Given the description of an element on the screen output the (x, y) to click on. 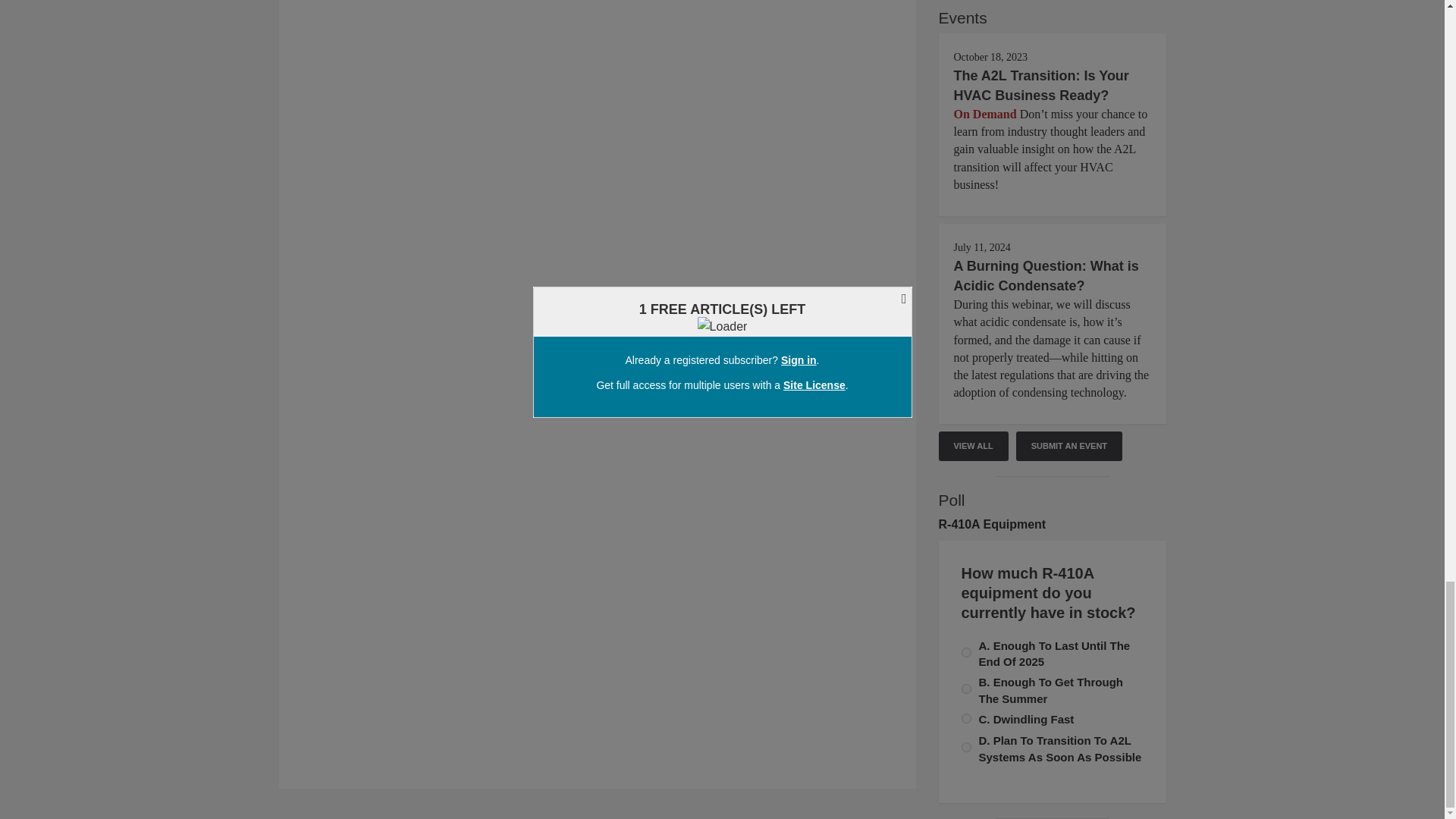
597 (965, 652)
599 (965, 747)
The A2L Transition: Is Your HVAC Business Ready? (1041, 85)
596 (965, 688)
A Burning Question: What is Acidic Condensate? (1045, 275)
598 (965, 718)
